Given the description of an element on the screen output the (x, y) to click on. 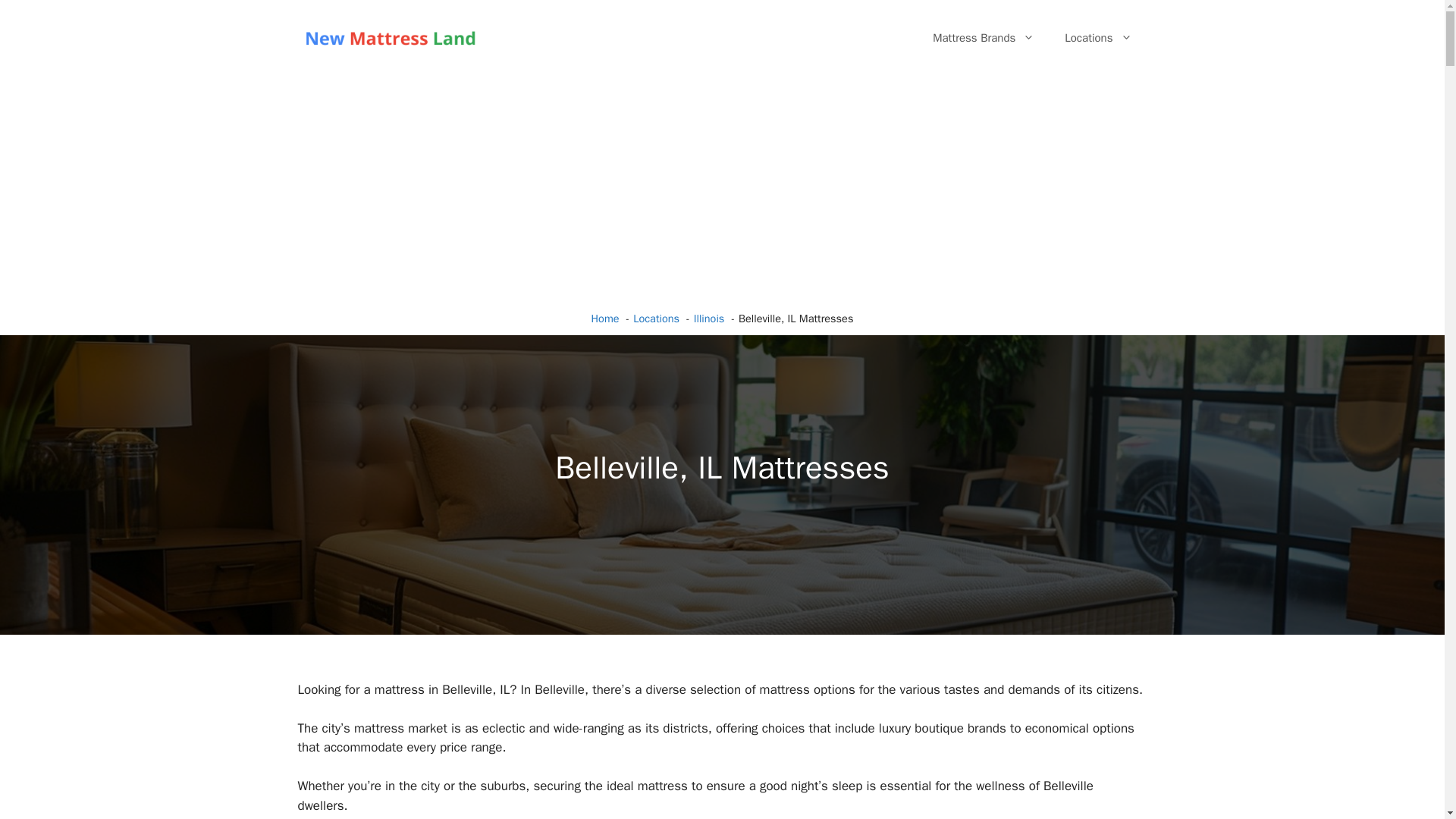
Mattress Brands (983, 37)
Locations (1098, 37)
